Given the description of an element on the screen output the (x, y) to click on. 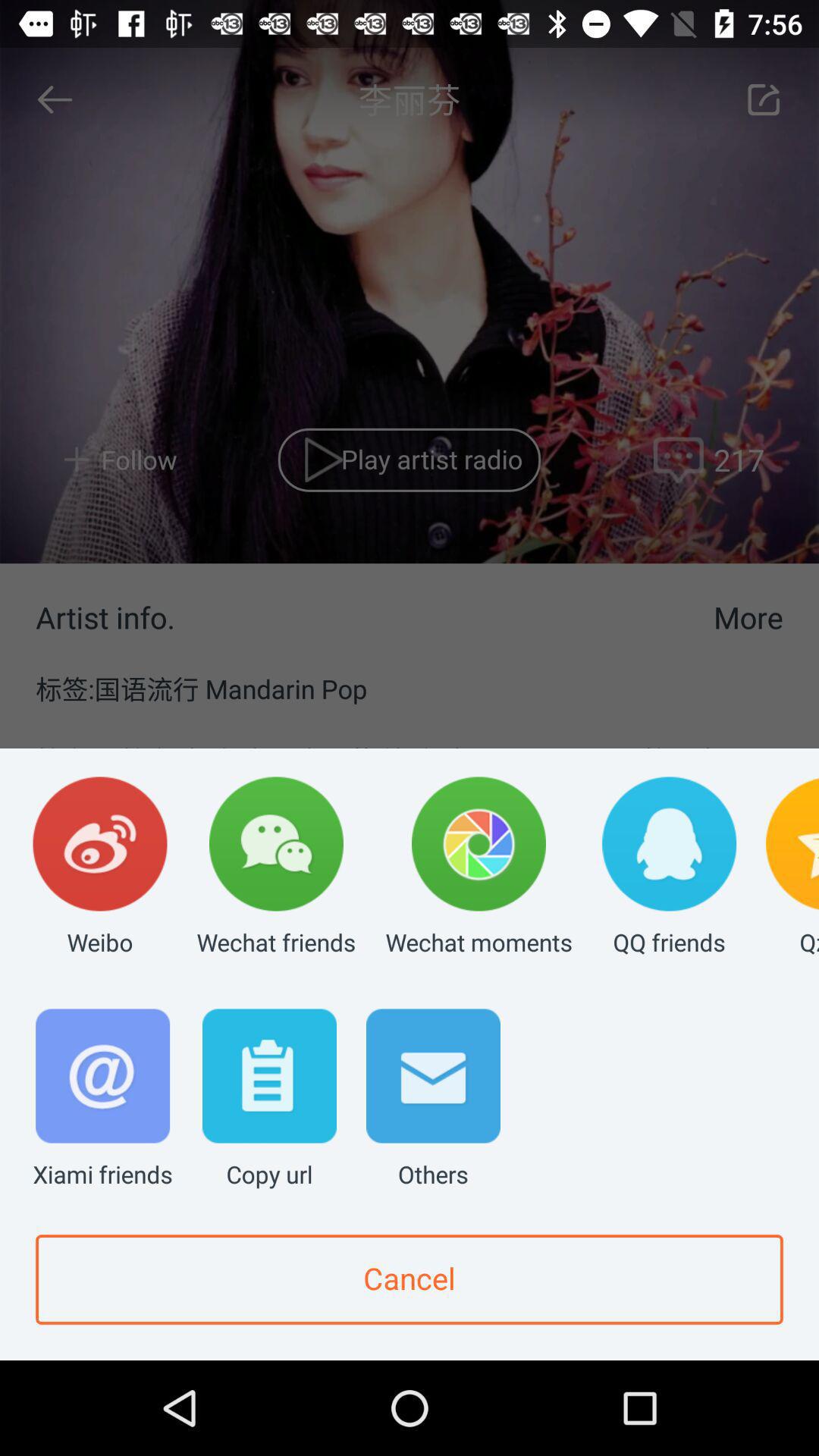
jump to xiami friends (102, 1099)
